Given the description of an element on the screen output the (x, y) to click on. 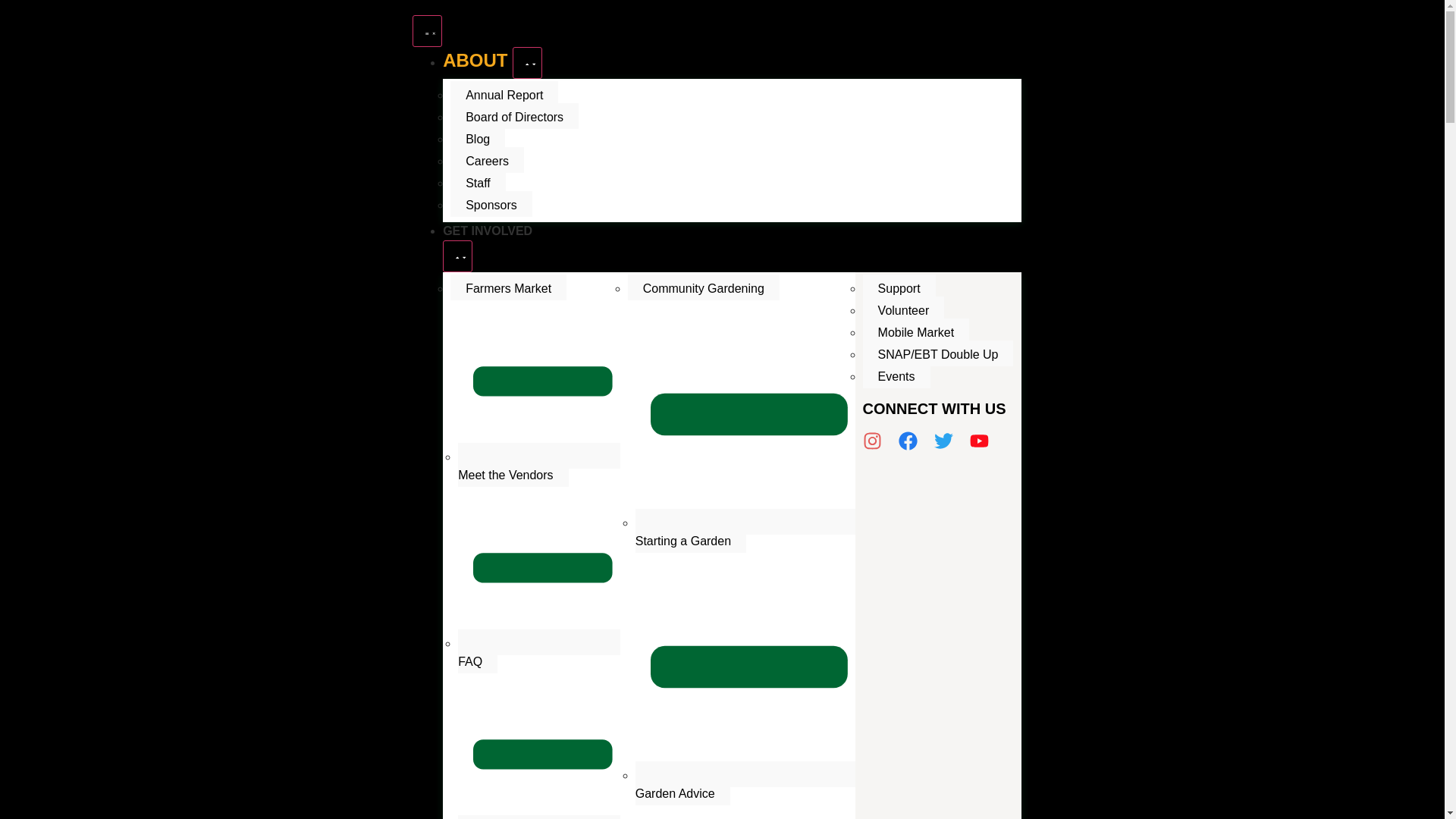
Careers (486, 159)
Board of Directors (513, 115)
Support (899, 287)
Sponsors (490, 203)
Events (896, 375)
Support (539, 816)
Farmers Market (507, 287)
Volunteer (903, 309)
Community Gardening (702, 287)
Blog (477, 137)
FAQ (539, 651)
Staff (477, 181)
ABOUT (477, 59)
Starting a Garden (745, 530)
Garden Advice (745, 783)
